Given the description of an element on the screen output the (x, y) to click on. 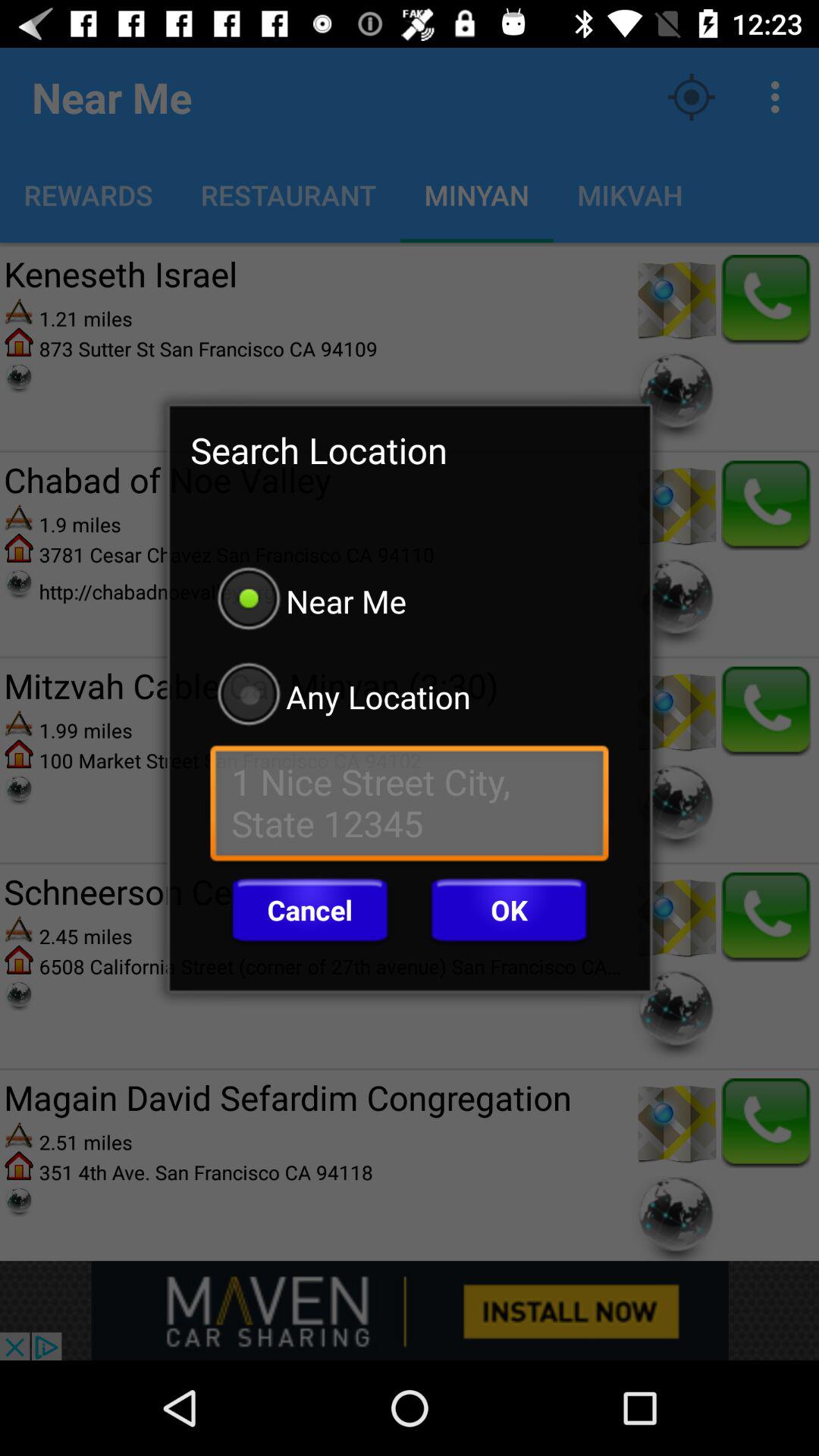
click radio button above the any location radio button (409, 600)
